Given the description of an element on the screen output the (x, y) to click on. 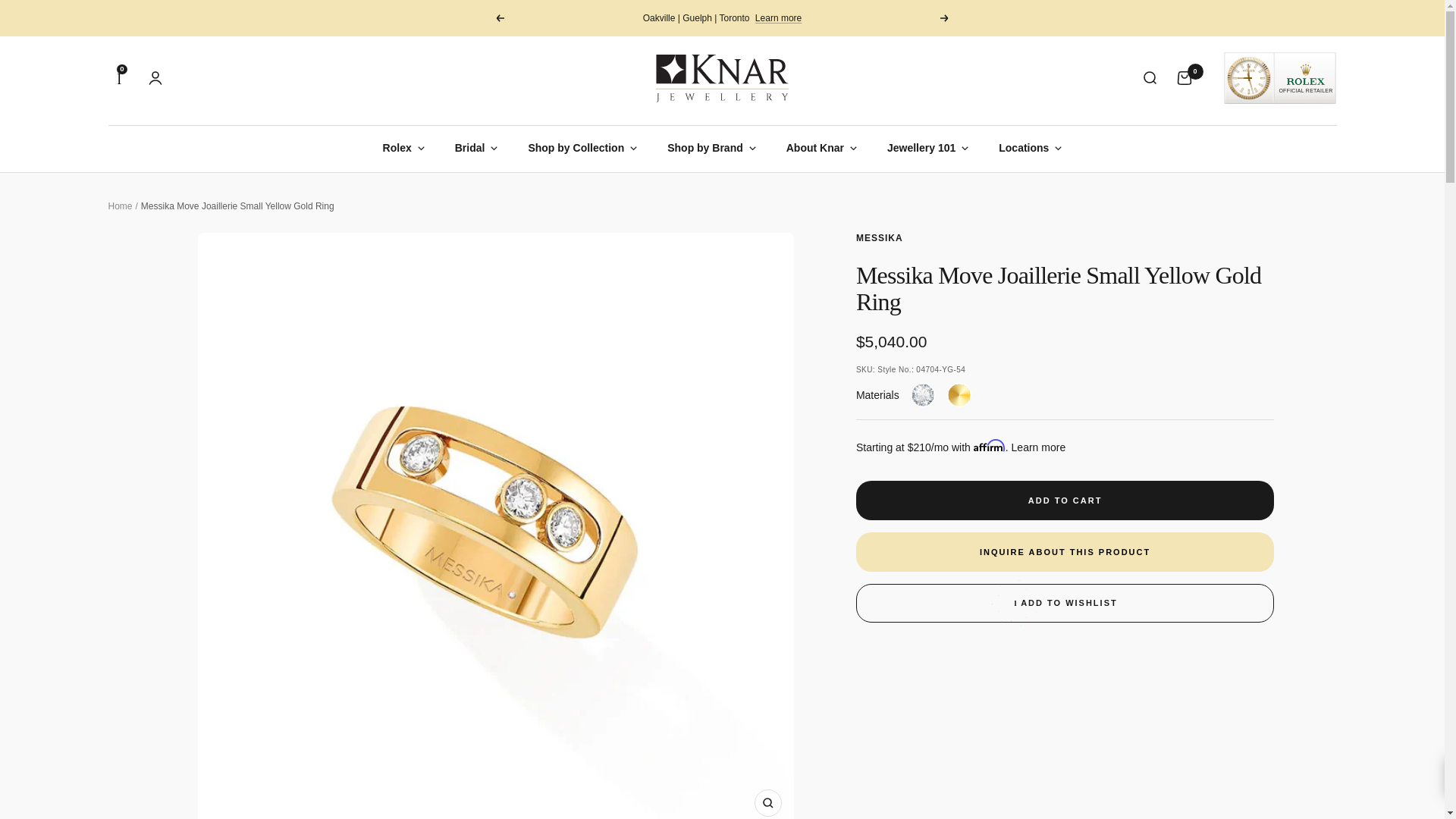
ADD TO WISHLIST (1065, 602)
Knar Jewellery (722, 63)
Home (119, 205)
Locations (1029, 147)
Zoom (767, 802)
Next (944, 18)
INQUIRE ABOUT THIS PRODUCT (1065, 551)
Learn more (778, 18)
Rolex Official Retailer (1279, 77)
Jewellery 101 (927, 147)
MESSIKA (879, 237)
Bridal (475, 147)
Shop by Collection (582, 147)
ADD TO CART (1065, 500)
0 (1183, 77)
